Given the description of an element on the screen output the (x, y) to click on. 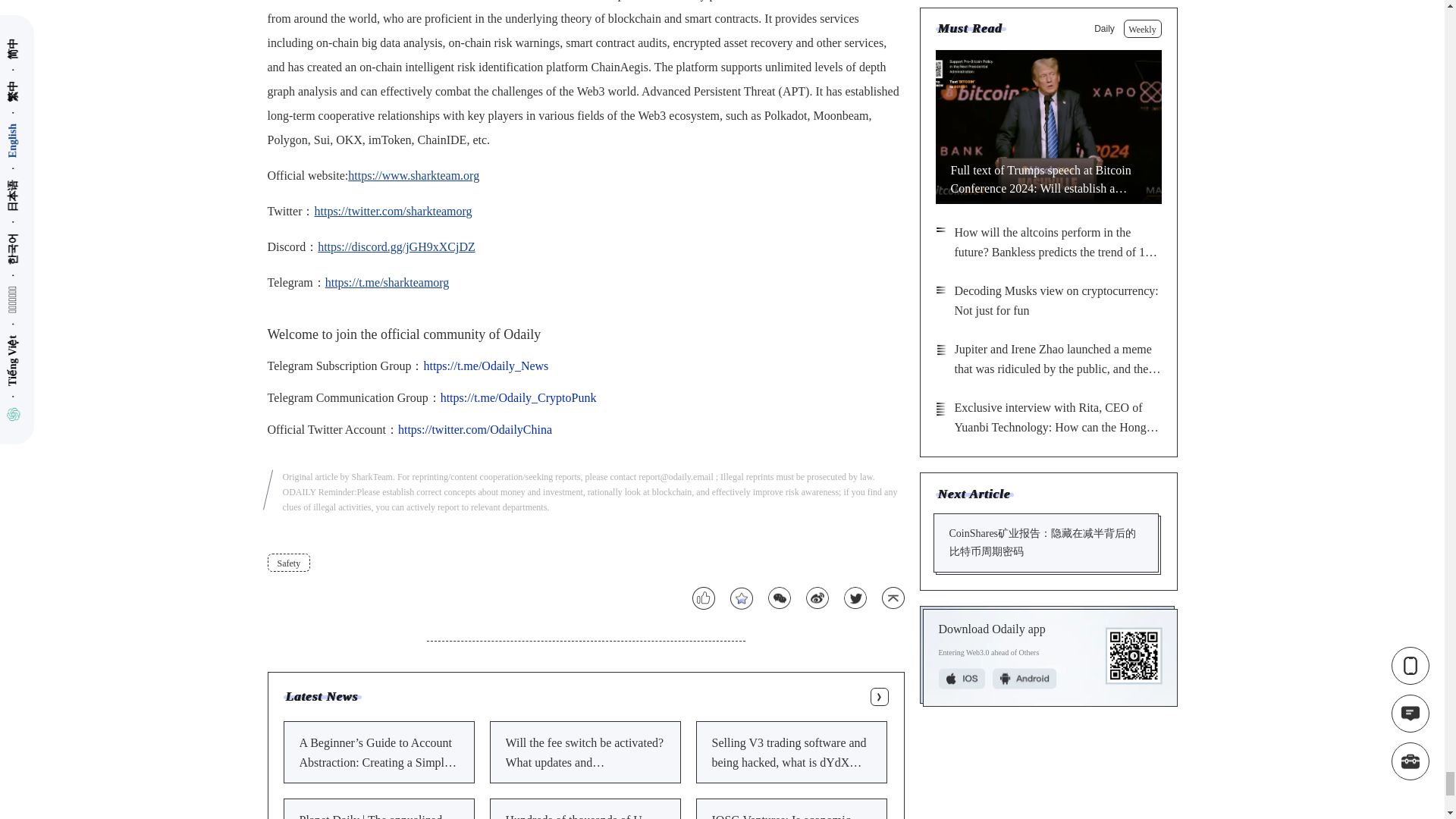
Share to Twitter (854, 598)
